Given the description of an element on the screen output the (x, y) to click on. 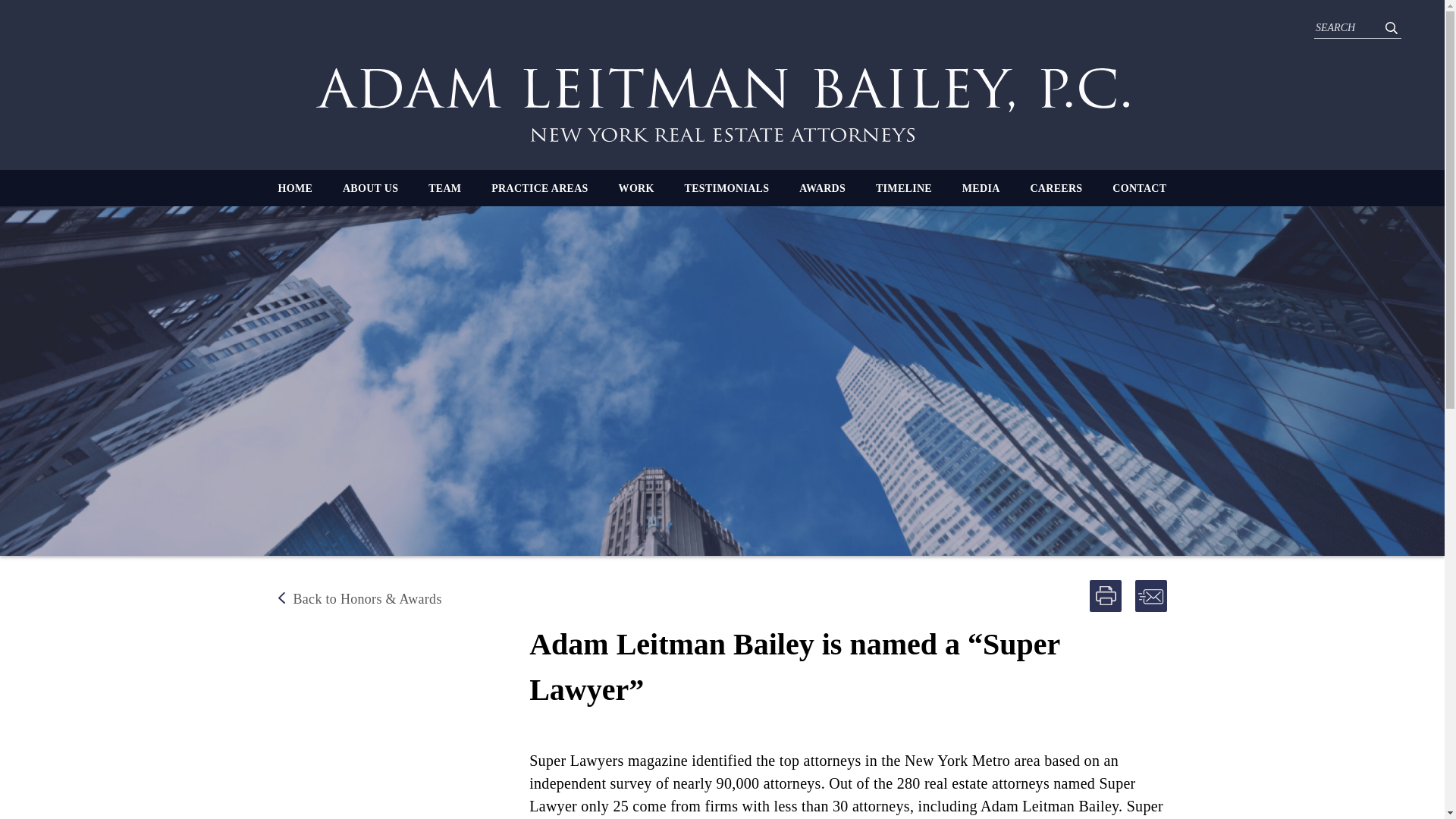
PRACTICE AREAS (540, 187)
WORK (635, 187)
TESTIMONIALS (727, 187)
TEAM (444, 187)
MEDIA (981, 187)
ABOUT US (369, 187)
CAREERS (1055, 187)
TIMELINE (903, 187)
AWARDS (822, 187)
CONTACT (1139, 187)
HOME (295, 187)
